Given the description of an element on the screen output the (x, y) to click on. 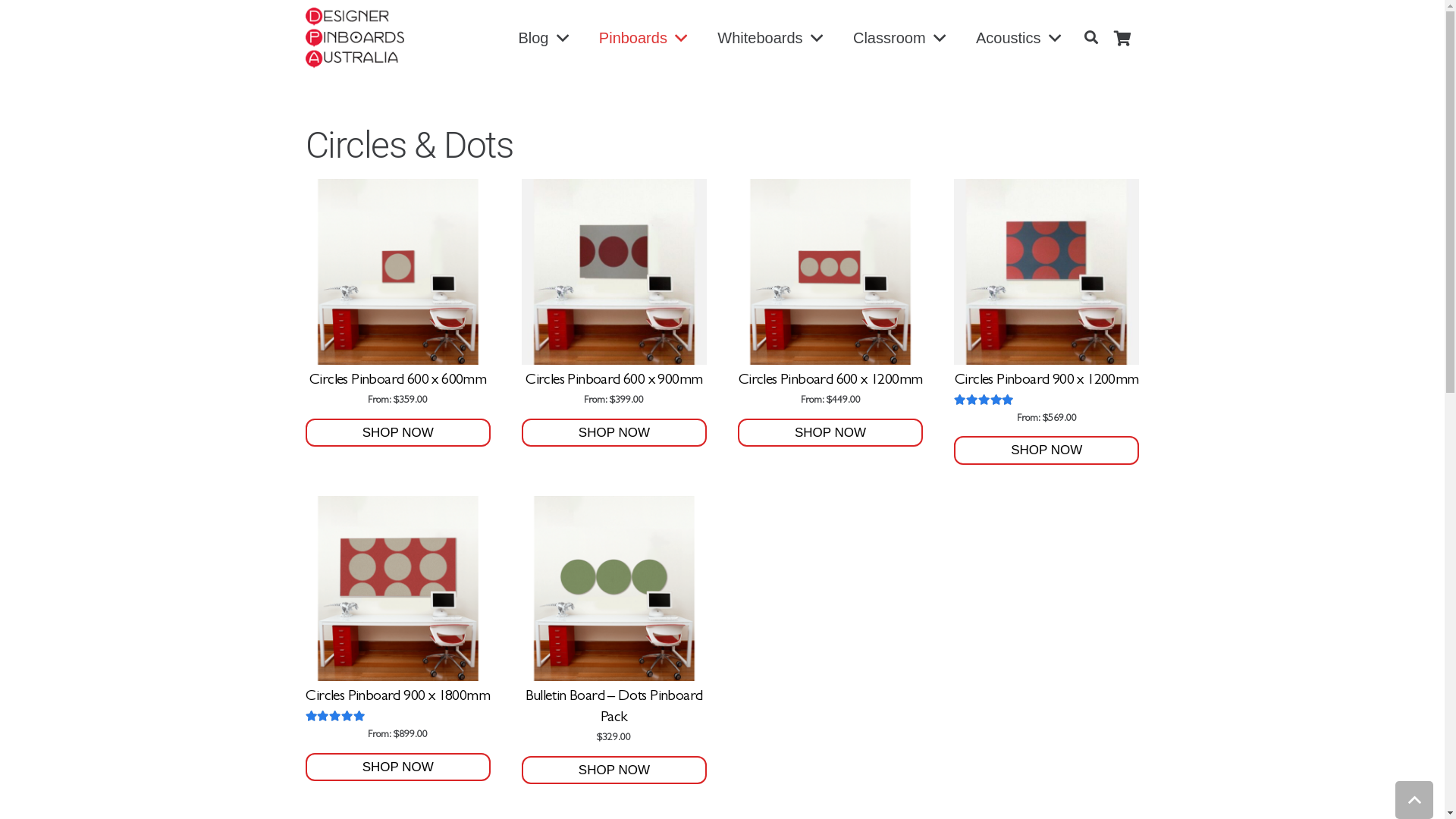
Circles Pinboard 900 x 1200mm
Rated out of 5
From: $569.00 Element type: text (1046, 301)
Circles Pinboard 600 x 600mm
From: $359.00 Element type: text (396, 292)
Circles Pinboard 600 x 1200mm
From: $449.00 Element type: text (829, 292)
SHOP NOW Element type: text (829, 432)
SHOP NOW Element type: text (1046, 450)
SHOP NOW Element type: text (613, 770)
Classroom Element type: text (898, 37)
0 Element type: text (1122, 37)
Circles Pinboard 900 x 1800mm
Rated out of 5
From: $899.00 Element type: text (396, 618)
SHOP NOW Element type: text (396, 767)
Whiteboards Element type: text (769, 37)
SHOP NOW Element type: text (396, 432)
Acoustics Element type: text (1018, 37)
Circles Pinboard 600 x 900mm
From: $399.00 Element type: text (613, 292)
SHOP NOW Element type: text (613, 432)
Pinboards Element type: text (642, 37)
Blog Element type: text (542, 37)
